Given the description of an element on the screen output the (x, y) to click on. 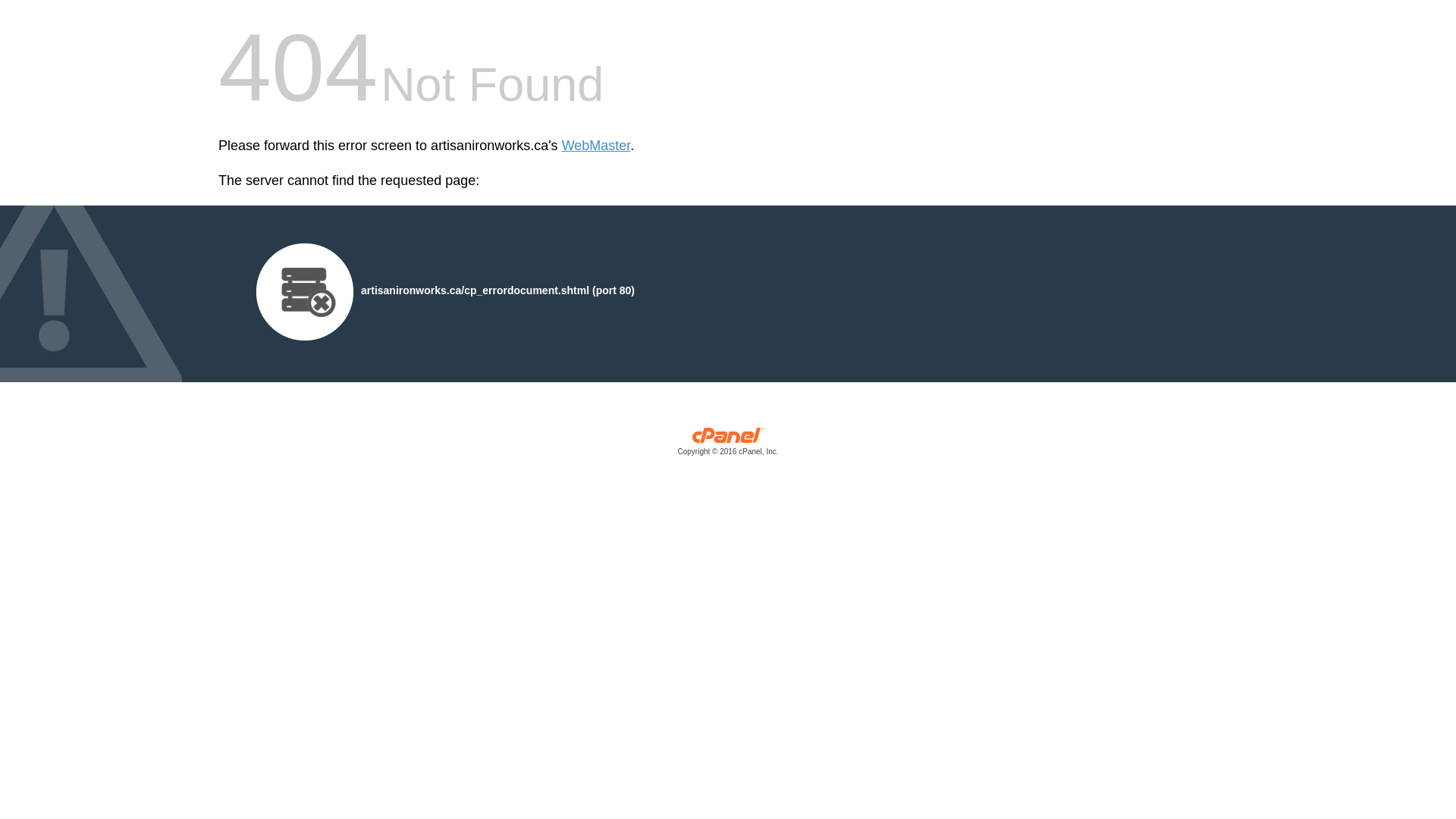
WebMaster Element type: text (595, 145)
